Given the description of an element on the screen output the (x, y) to click on. 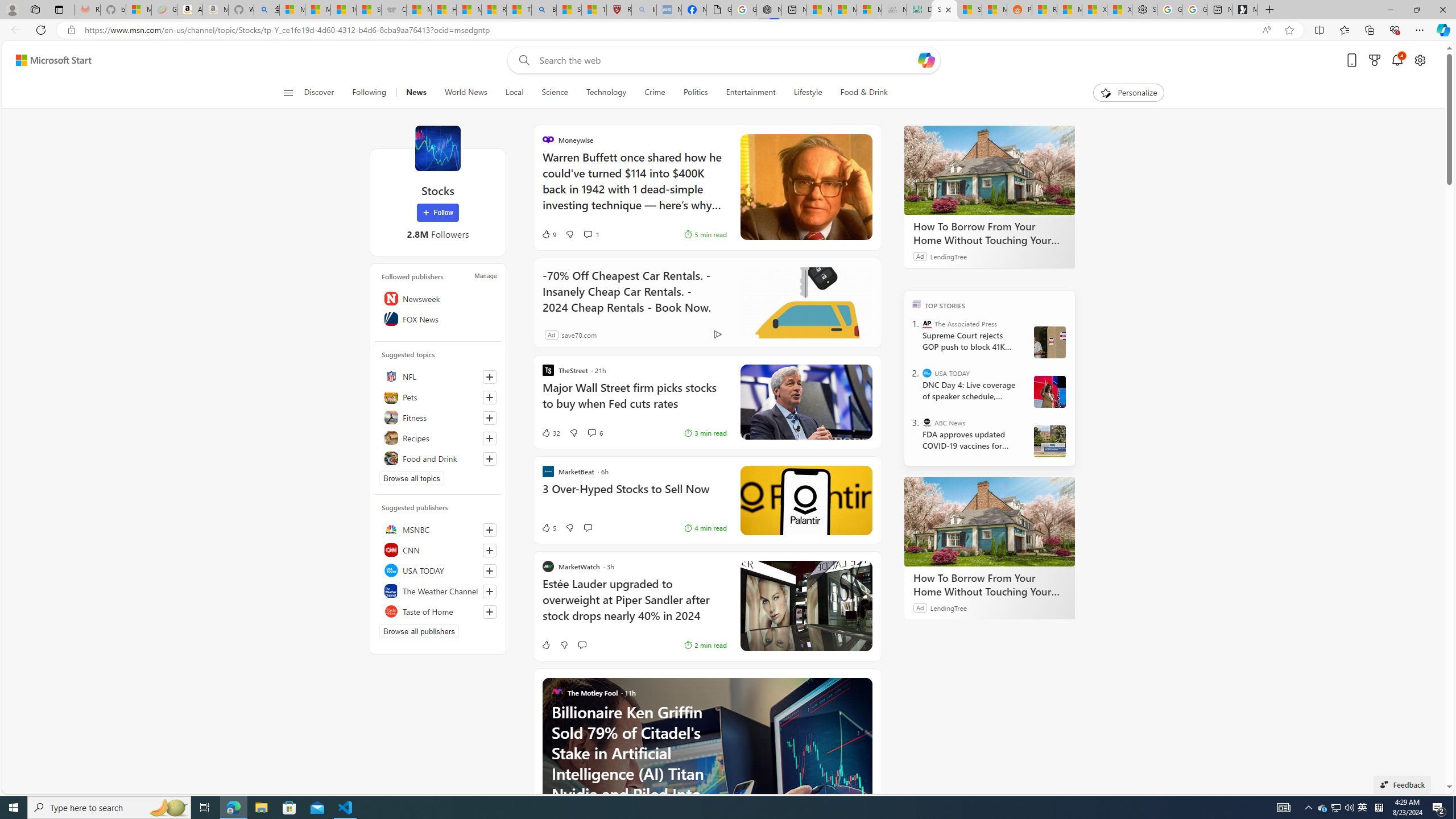
World News (465, 92)
Open Copilot (925, 59)
World News (465, 92)
Notifications (1397, 60)
Open Copilot (926, 59)
Discover (323, 92)
Taste of Home (437, 610)
Robert H. Shmerling, MD - Harvard Health (618, 9)
Nordace - Nordace Siena Is Not An Ordinary Backpack (768, 9)
